Given the description of an element on the screen output the (x, y) to click on. 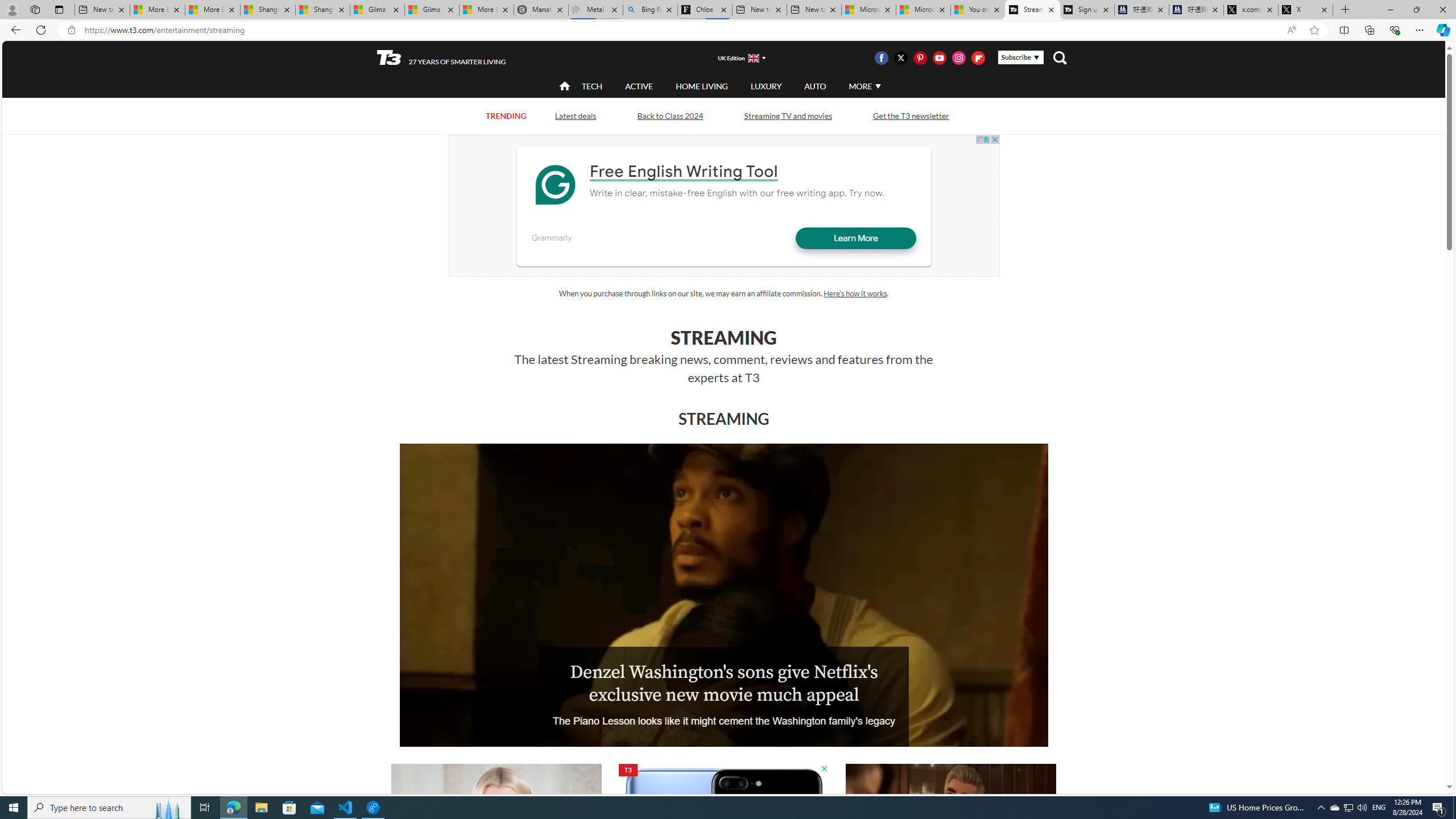
Get the T3 newsletter (911, 115)
X (1306, 9)
Bing Real Estate - Home sales and rental listings (650, 9)
